Given the description of an element on the screen output the (x, y) to click on. 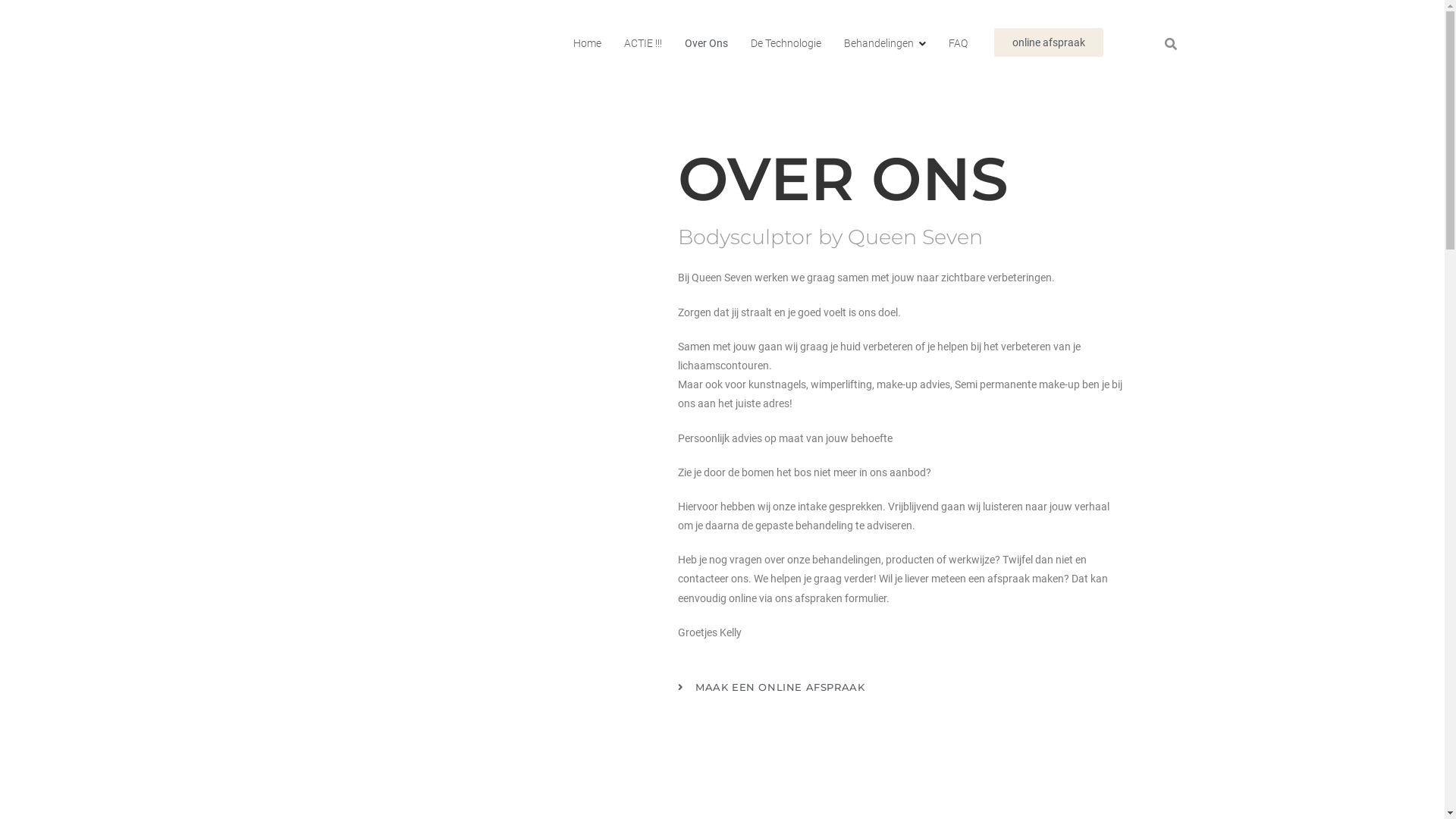
FAQ Element type: text (957, 42)
De Technologie Element type: text (785, 42)
online afspraak Element type: text (1048, 42)
Behandelingen Element type: text (884, 42)
Home Element type: text (587, 42)
Over Ons Element type: text (705, 42)
ACTIE !!! Element type: text (642, 42)
MAAK EEN ONLINE AFSPRAAK Element type: text (793, 687)
